Given the description of an element on the screen output the (x, y) to click on. 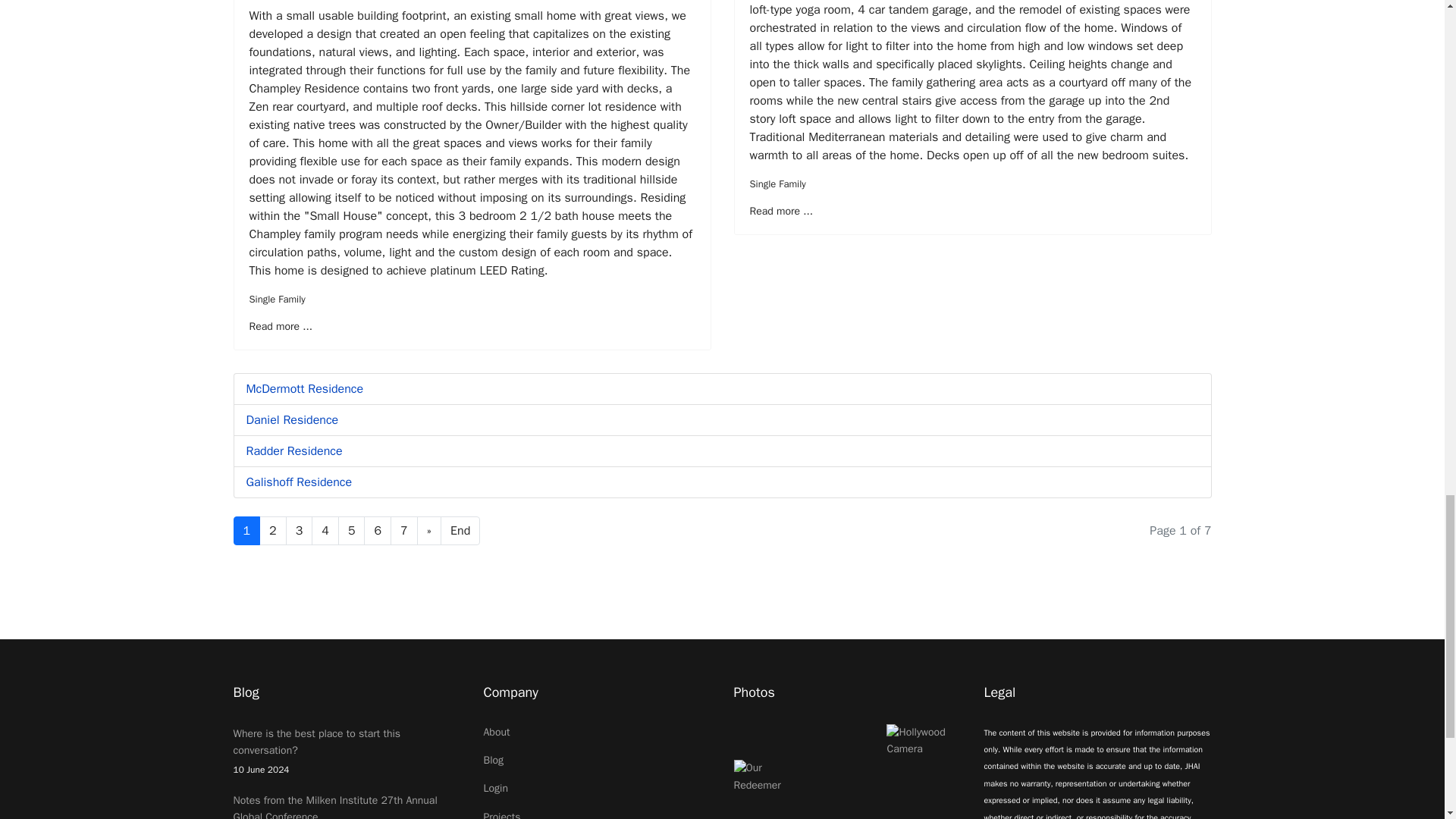
4 (325, 530)
Category: Single Family (276, 299)
6 (377, 530)
7 (403, 530)
Hollywood Camera (923, 740)
Category: Single Family (777, 183)
3 (299, 530)
End (460, 530)
2 (272, 530)
5 (351, 530)
